Given the description of an element on the screen output the (x, y) to click on. 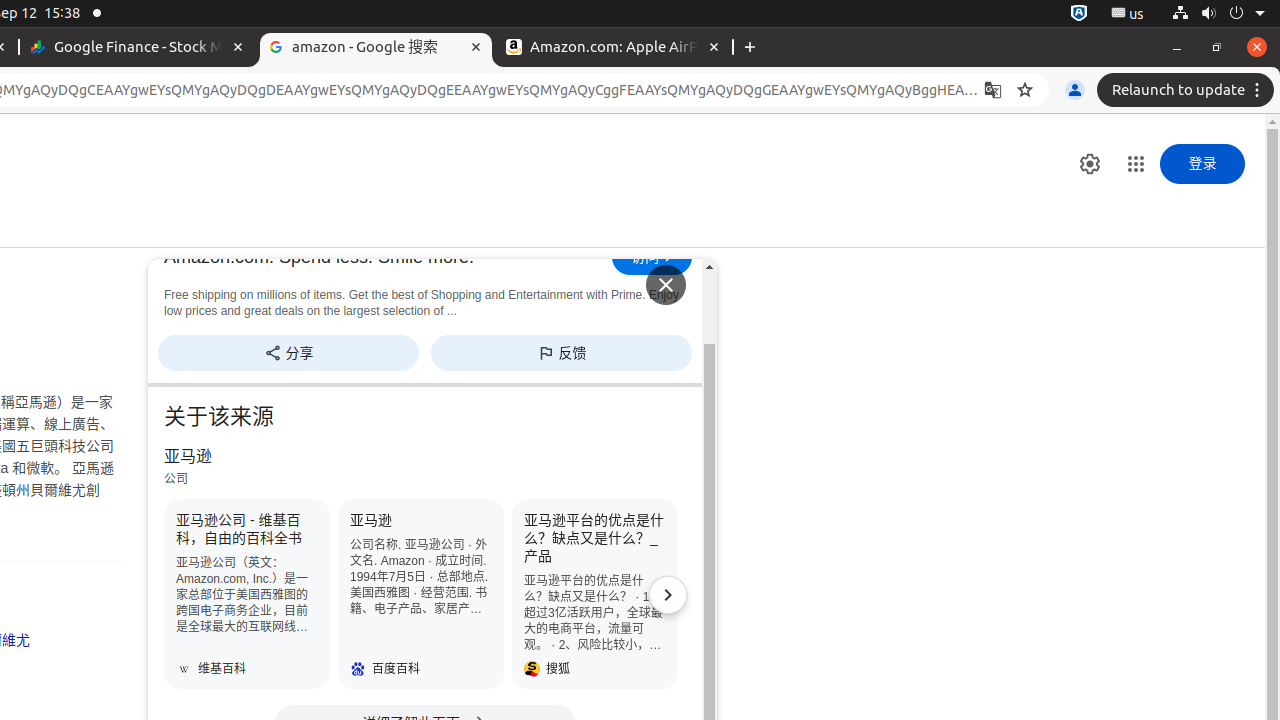
分享 Element type: push-button (288, 352)
亚马逊公司 - 维基百科，自由的百科全书 Element type: link (247, 593)
前往Amazon.com. Spend less. Smile more. Element type: link (652, 257)
Bookmark this tab Element type: push-button (1025, 90)
New Tab Element type: push-button (750, 47)
